Given the description of an element on the screen output the (x, y) to click on. 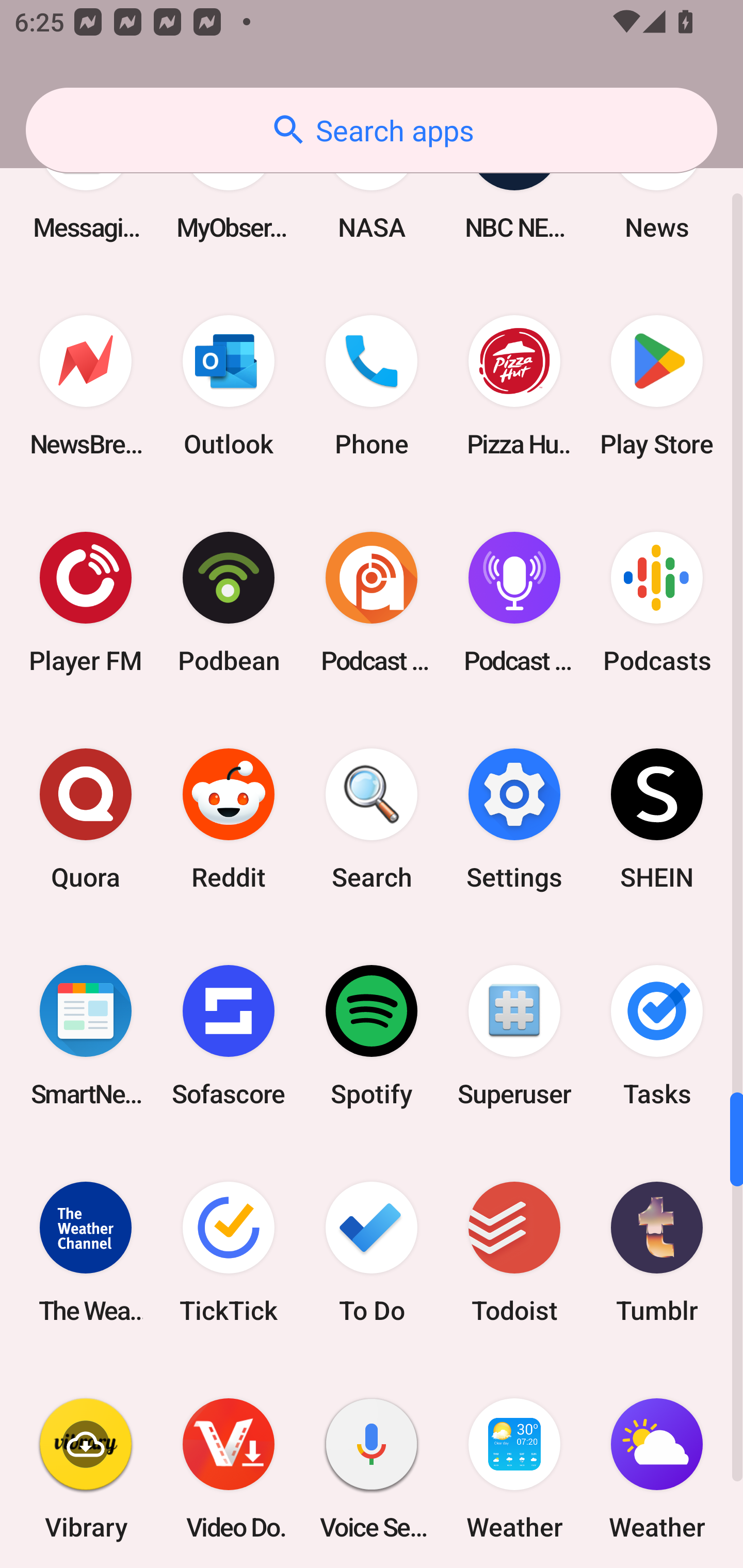
  Search apps (371, 130)
NewsBreak (85, 385)
Outlook (228, 385)
Phone (371, 385)
Pizza Hut HK & Macau (514, 385)
Play Store (656, 385)
Player FM (85, 601)
Podbean (228, 601)
Podcast Addict (371, 601)
Podcast Player (514, 601)
Podcasts (656, 601)
Quora (85, 818)
Reddit (228, 818)
Search (371, 818)
Settings (514, 818)
SHEIN (656, 818)
SmartNews (85, 1035)
Sofascore (228, 1035)
Spotify (371, 1035)
Superuser (514, 1035)
Tasks (656, 1035)
The Weather Channel (85, 1252)
TickTick (228, 1252)
To Do (371, 1252)
Todoist (514, 1252)
Tumblr (656, 1252)
Vibrary (85, 1464)
Video Downloader & Ace Player (228, 1464)
Voice Search (371, 1464)
Weather (514, 1464)
Weather (656, 1464)
